Given the description of an element on the screen output the (x, y) to click on. 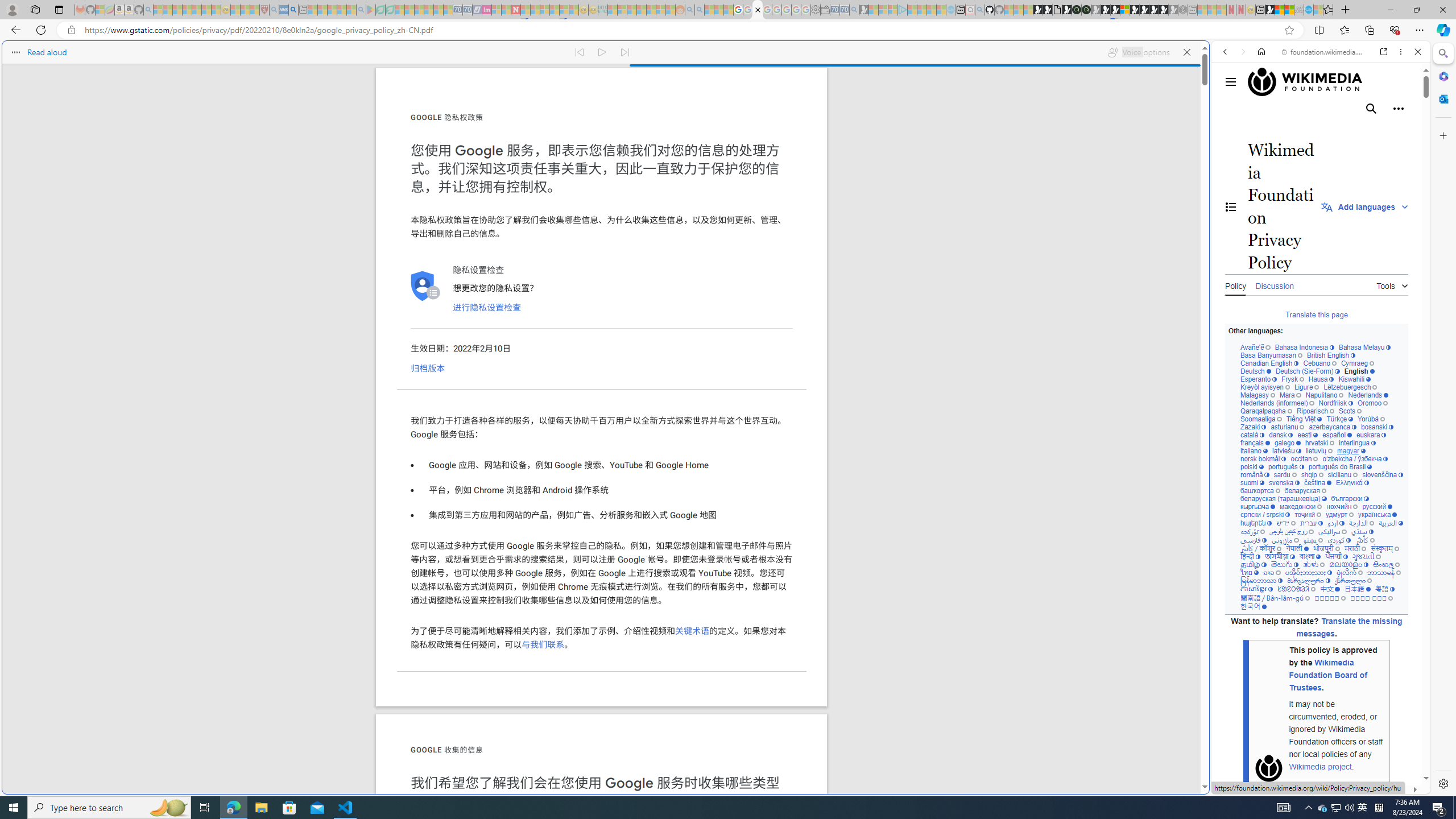
Cymraeg (1357, 363)
Cebuano (1319, 363)
suomi (1252, 483)
Kiswahili (1354, 379)
shqip (1311, 474)
